Given the description of an element on the screen output the (x, y) to click on. 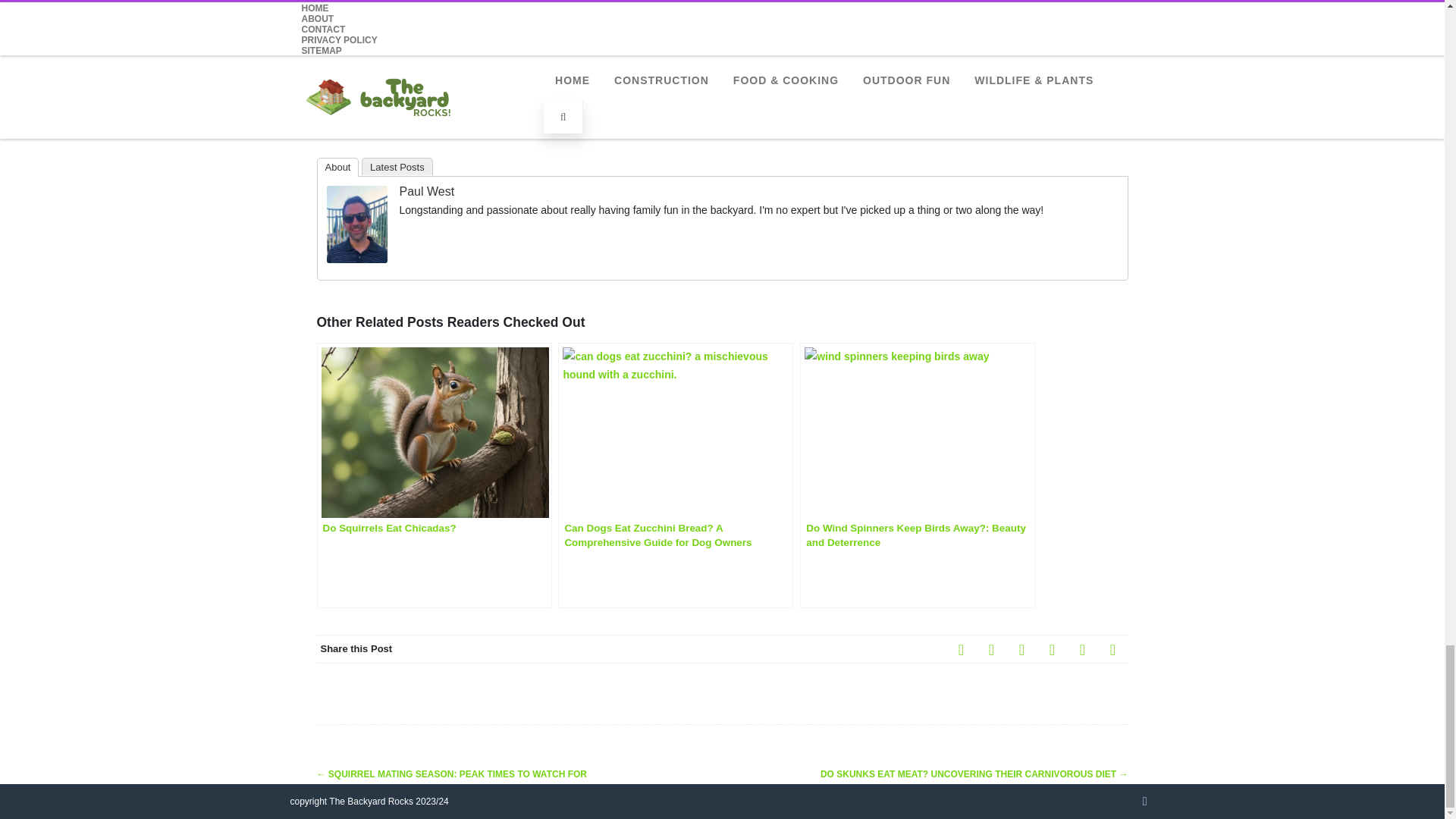
RSS (1082, 648)
LinkedIn (1051, 648)
About (338, 167)
Pinterest (1021, 648)
Email (1112, 648)
Facebook (961, 648)
Twitter (991, 648)
Paul West (426, 191)
Latest Posts (396, 166)
Paul West (356, 259)
